Given the description of an element on the screen output the (x, y) to click on. 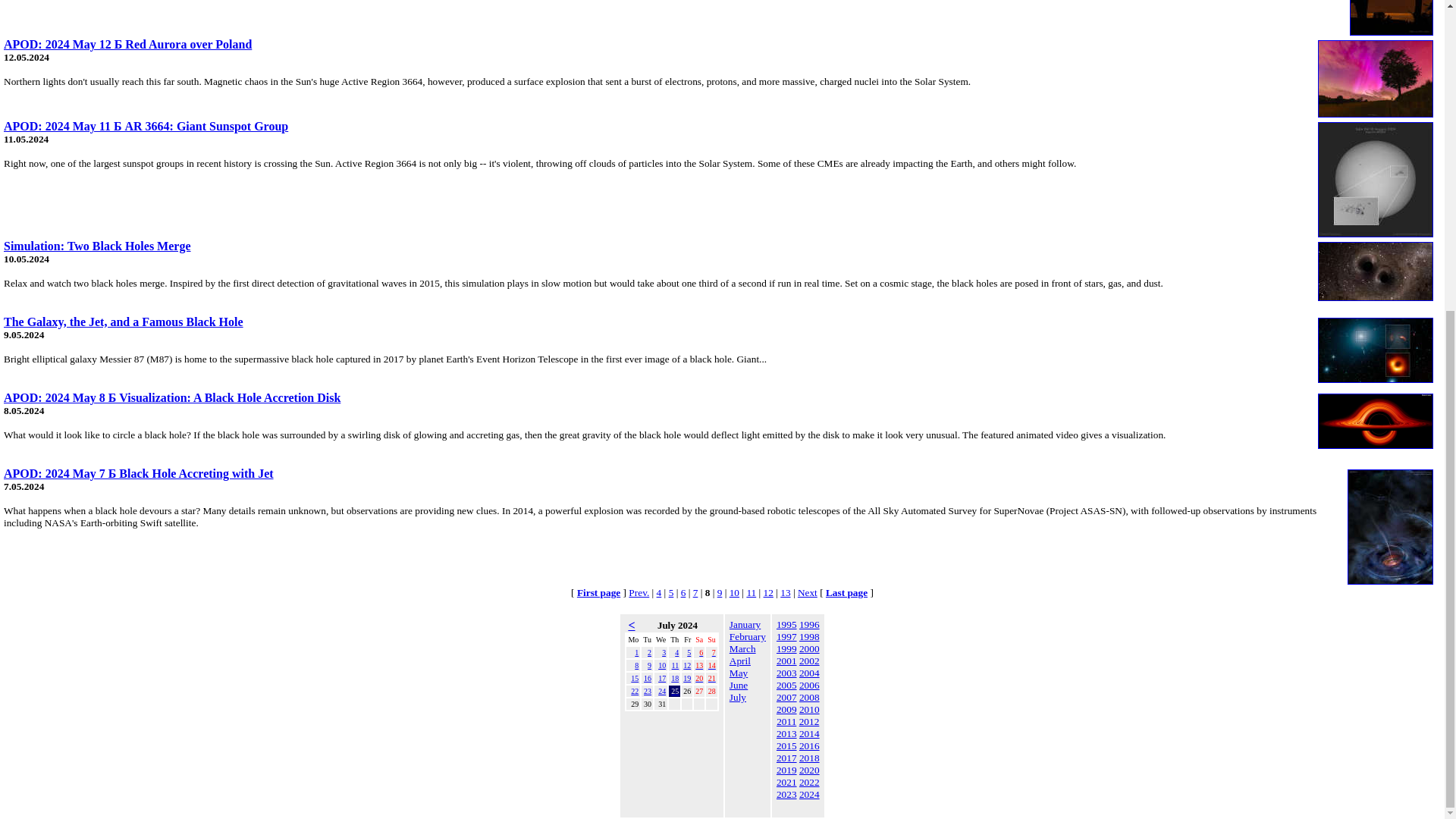
Next (806, 592)
Prev. (638, 592)
The Galaxy, the Jet, and a Famous Black Hole (123, 321)
Last page (846, 592)
Simulation: Two Black Holes Merge (97, 245)
First page (598, 592)
